Given the description of an element on the screen output the (x, y) to click on. 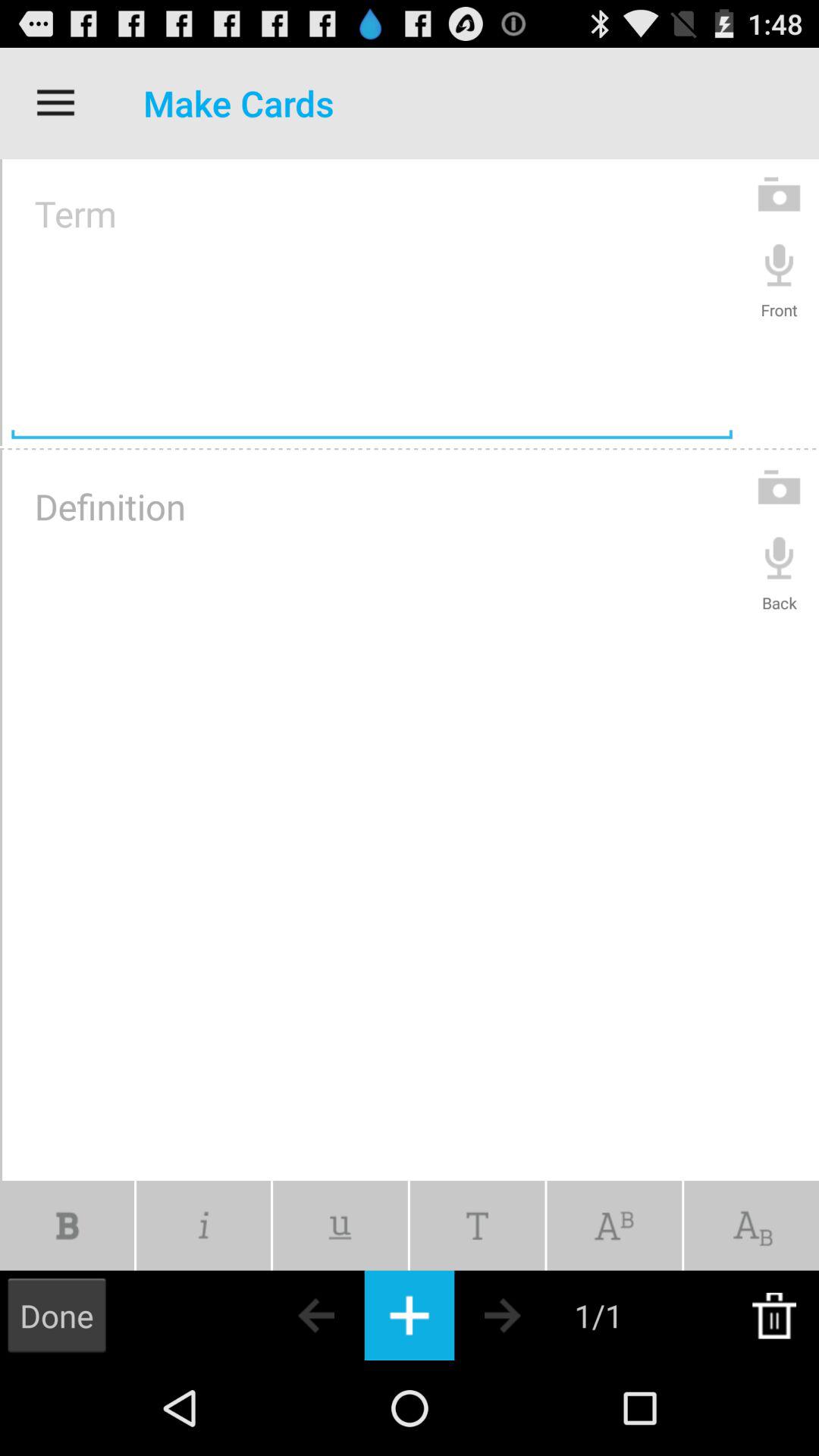
go forward (529, 1315)
